Given the description of an element on the screen output the (x, y) to click on. 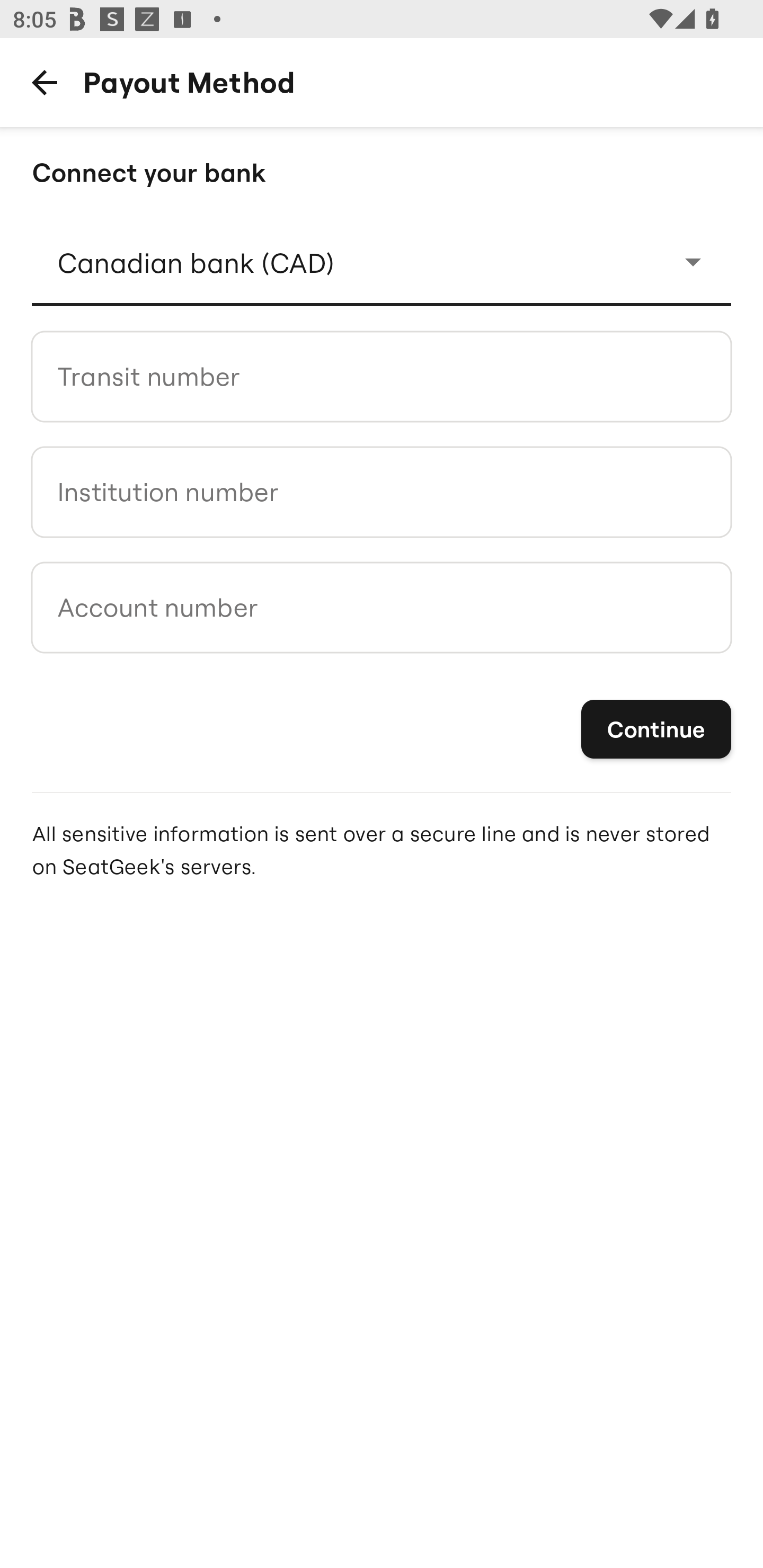
Back (44, 81)
Dropdown menu Canadian bank (CAD) (381, 261)
Transit number (381, 375)
Institution number (381, 491)
Account number (381, 607)
Continue (655, 729)
